Given the description of an element on the screen output the (x, y) to click on. 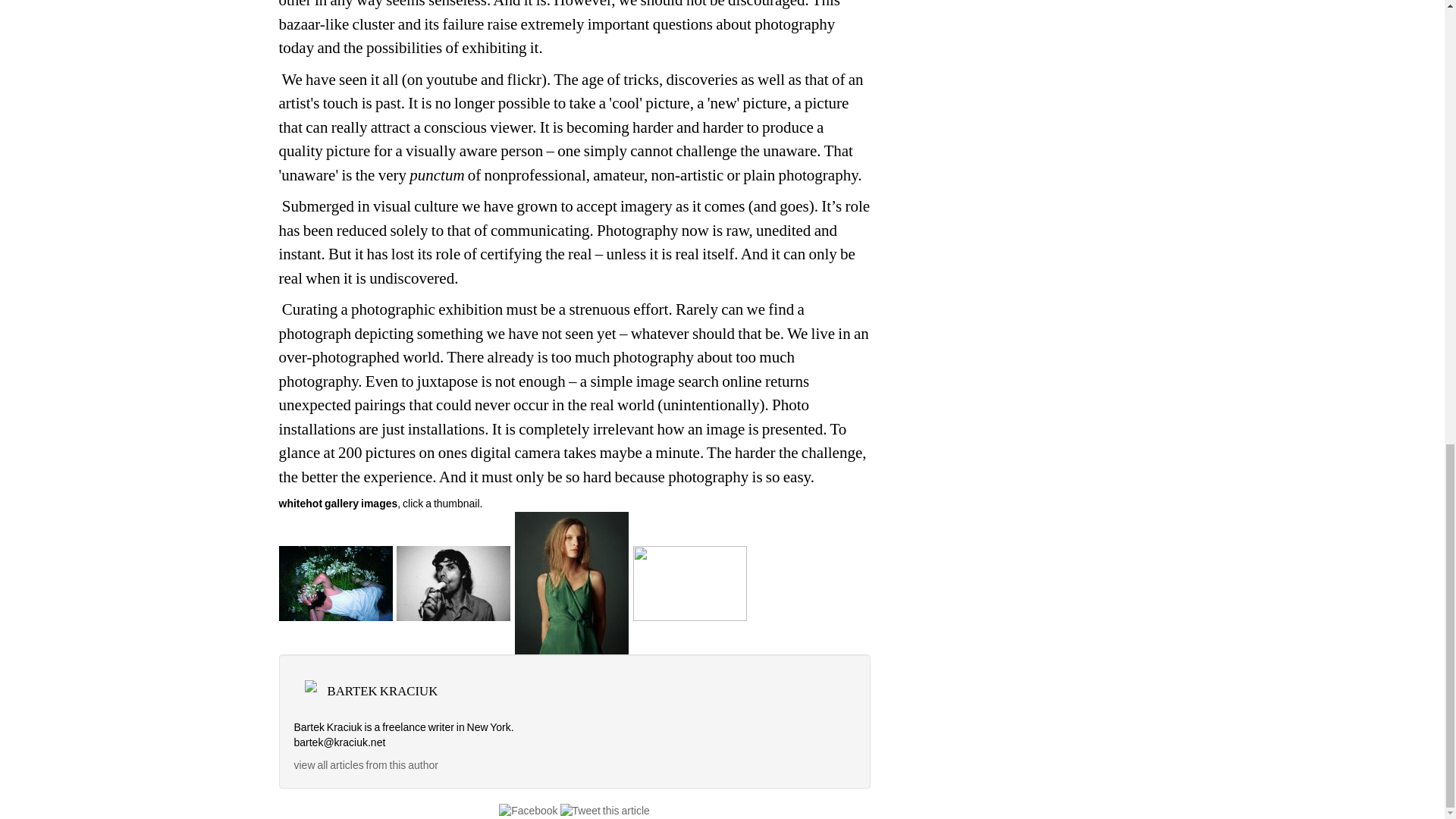
Red Eye Effect at Warsaw's CCA (336, 582)
Facebook (528, 810)
view all articles from this author (366, 765)
Red Eye Effect at Warsaw's CCA (453, 582)
Red Eye Effect at Warsaw's CCA (571, 582)
Red Eye Effect at Warsaw's CCA (689, 582)
